Given the description of an element on the screen output the (x, y) to click on. 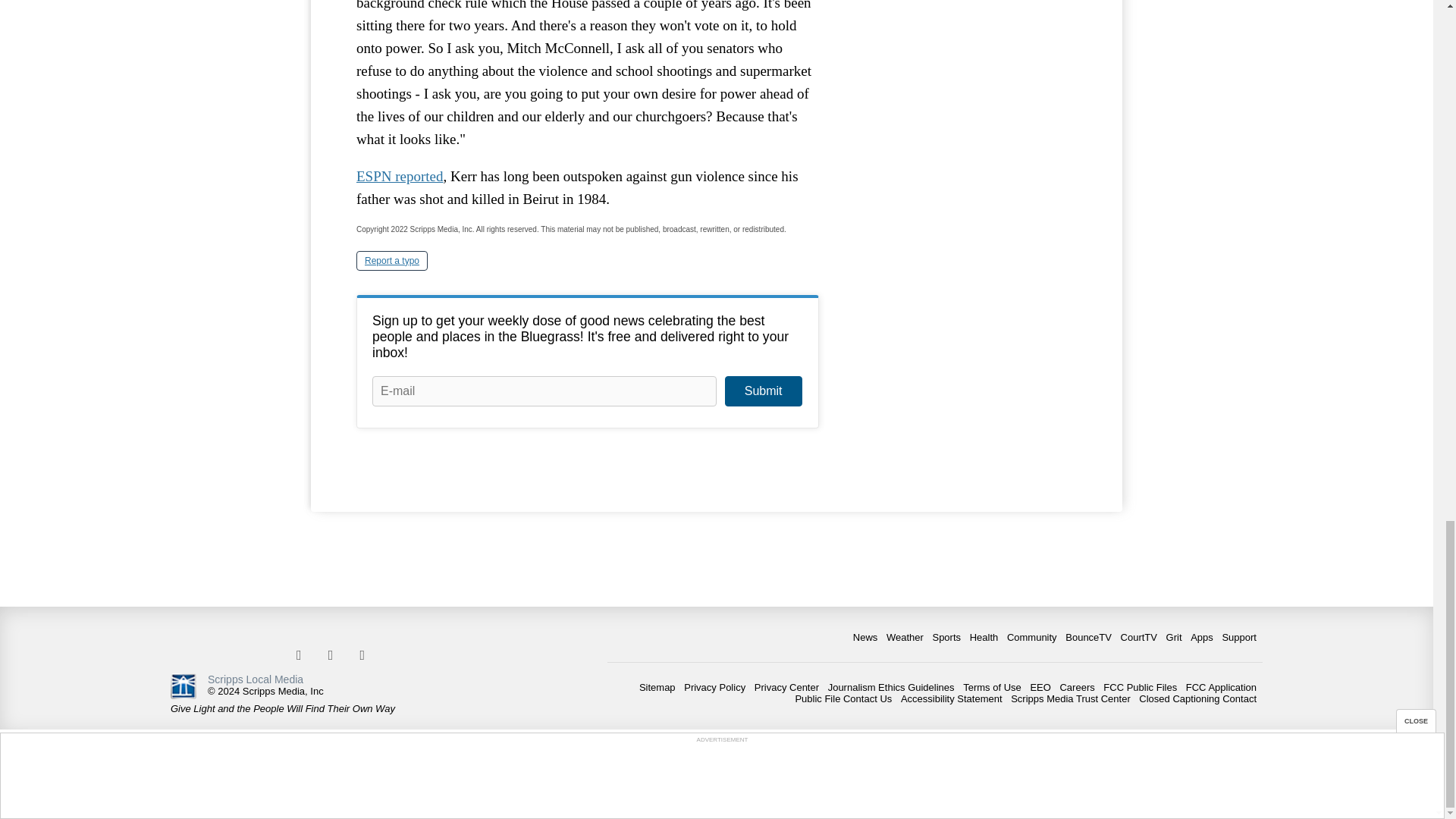
Submit (763, 390)
